Given the description of an element on the screen output the (x, y) to click on. 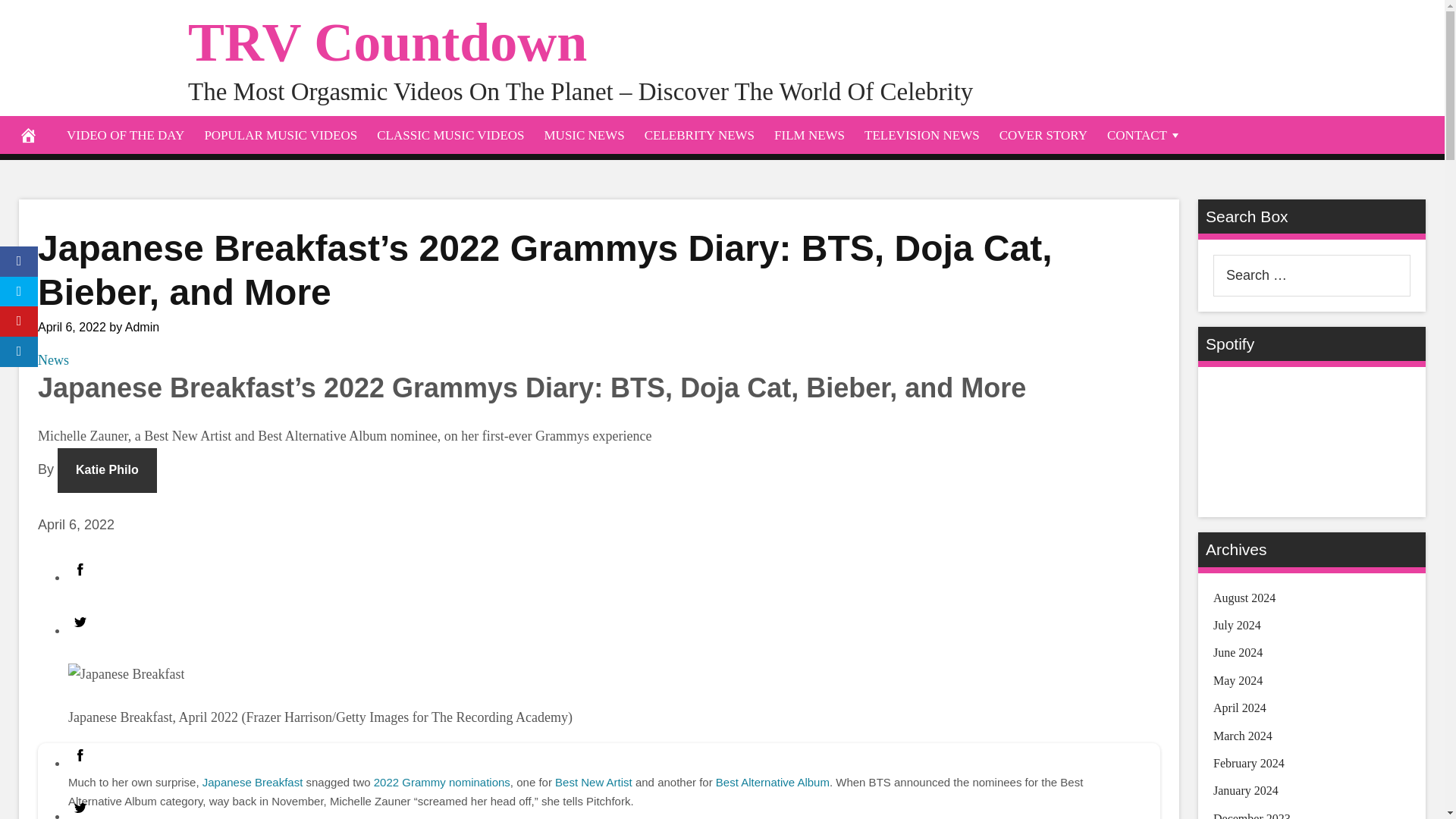
POPULAR MUSIC VIDEOS (279, 134)
CONTACT (1144, 134)
TRV Countdown (386, 42)
FILM NEWS (809, 134)
CLASSIC MUSIC VIDEOS (450, 134)
VIDEO OF THE DAY (124, 134)
TELEVISION NEWS (922, 134)
Spotify Embed: Top Requested Videos Countdown  (1311, 439)
Twitter (80, 622)
CELEBRITY NEWS (699, 134)
MUSIC NEWS (583, 134)
Facebook (80, 754)
COVER STORY (1043, 134)
Twitter (80, 807)
